Given the description of an element on the screen output the (x, y) to click on. 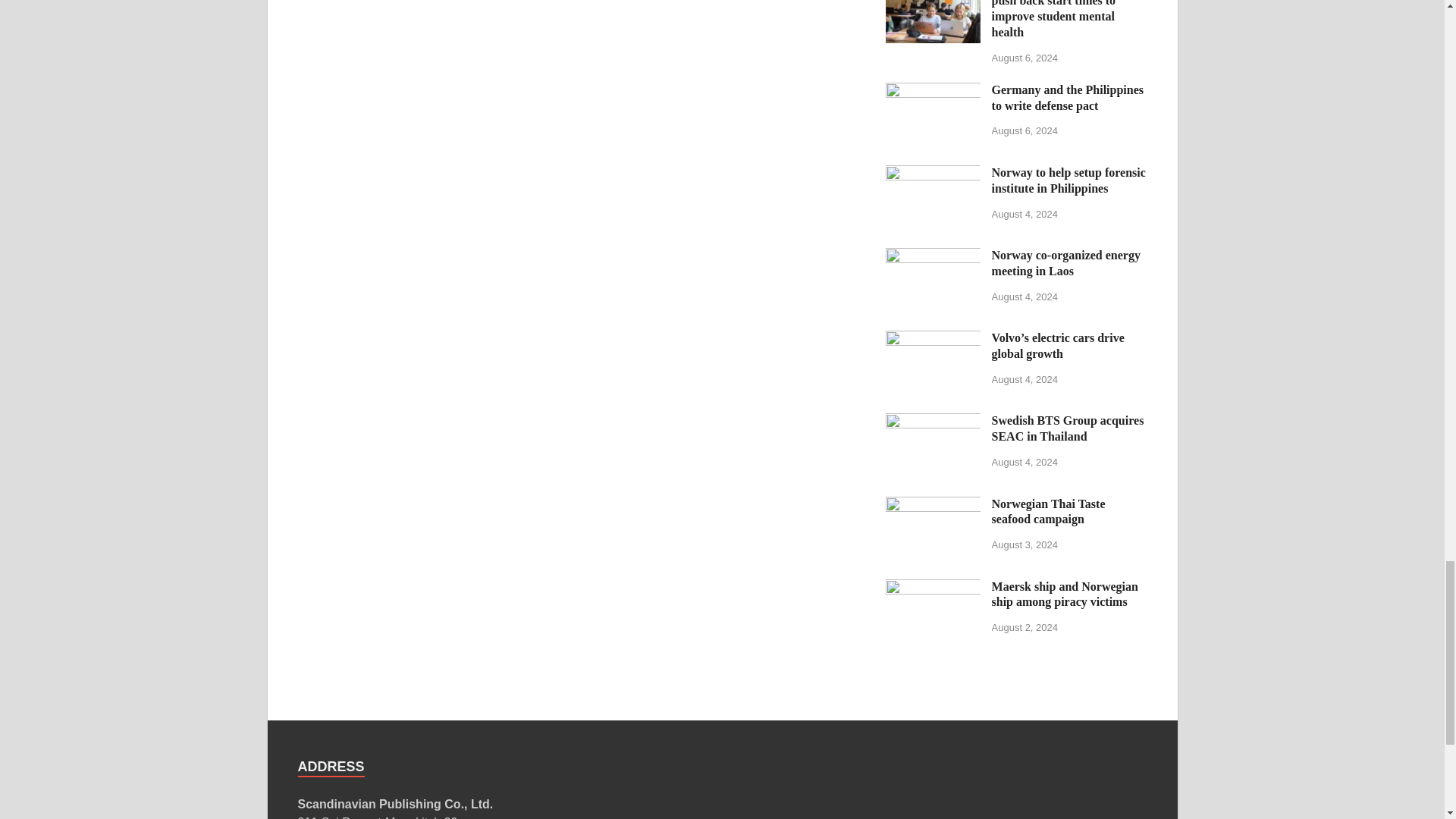
Germany and the Philippines to write defense pact (932, 91)
Norway to help setup forensic institute in Philippines (932, 173)
Norway co-organized energy meeting in Laos (932, 256)
